Given the description of an element on the screen output the (x, y) to click on. 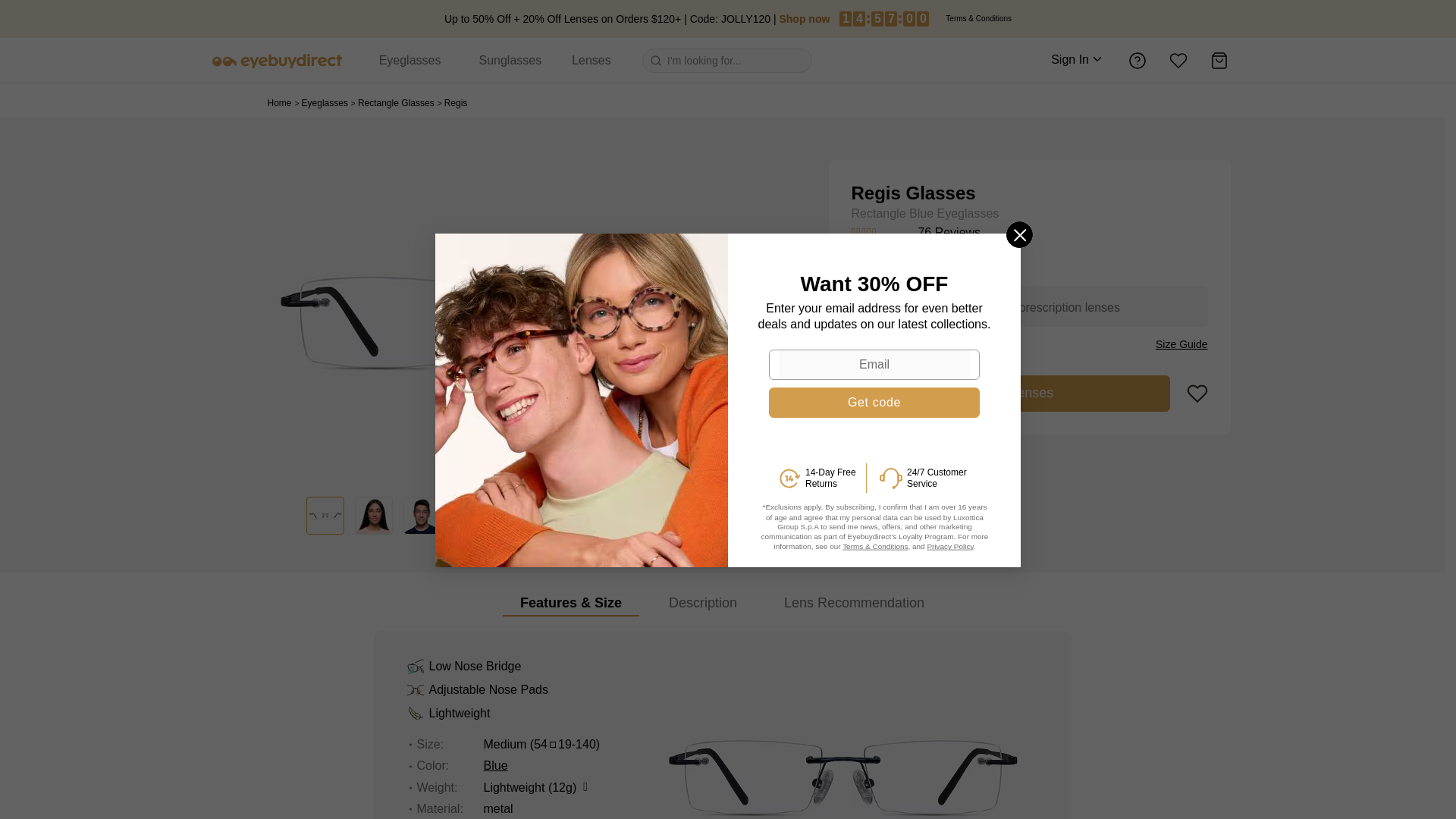
Sign In (1077, 60)
Shop now (803, 19)
